Given the description of an element on the screen output the (x, y) to click on. 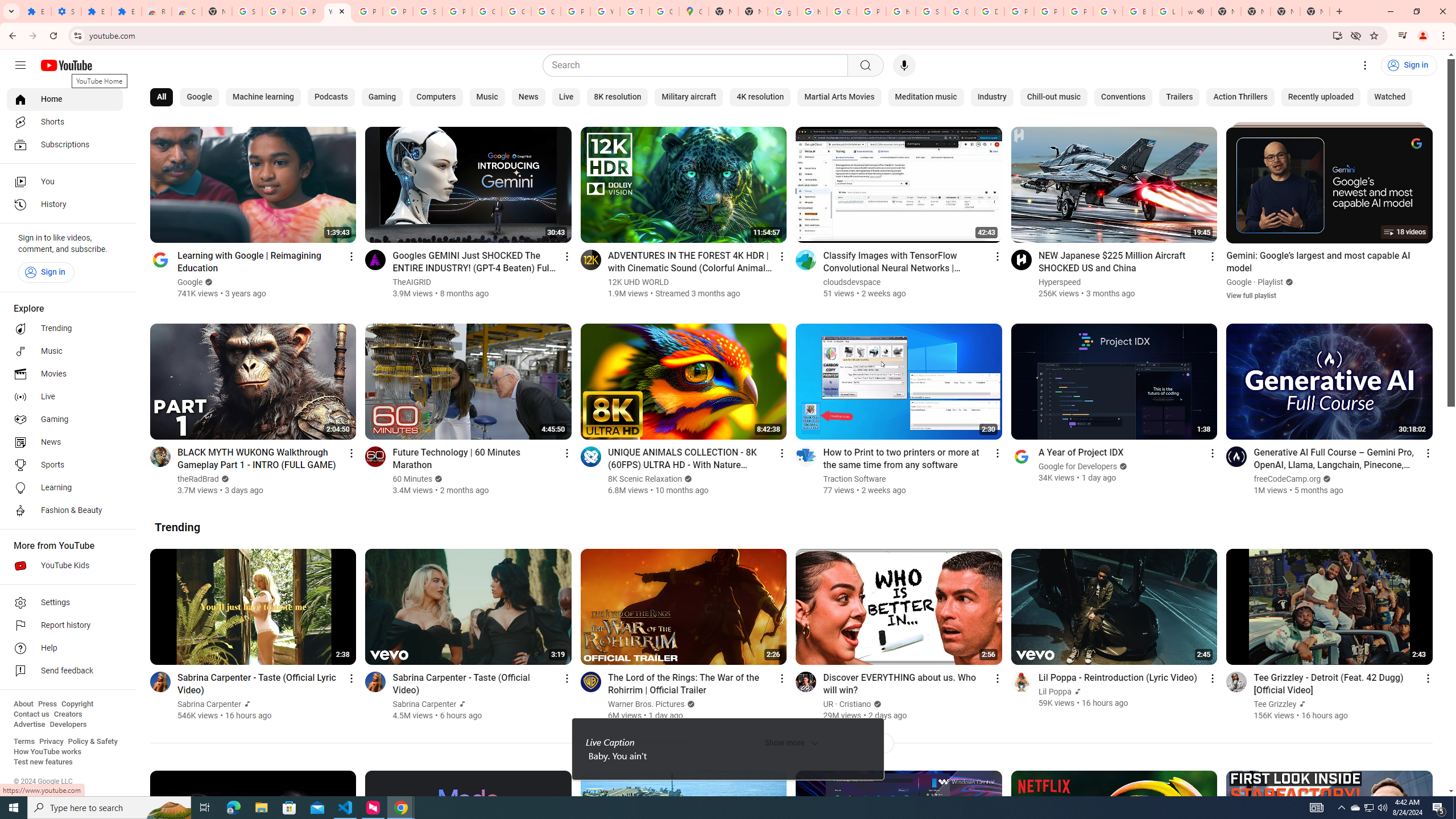
Sign in - Google Accounts (426, 11)
https://scholar.google.com/ (811, 11)
Third-party cookies blocked (1355, 35)
Computers (436, 97)
Mute tab (1200, 10)
New Tab (1314, 11)
Chill-out music (1053, 97)
About (23, 703)
Copyright (77, 703)
